Given the description of an element on the screen output the (x, y) to click on. 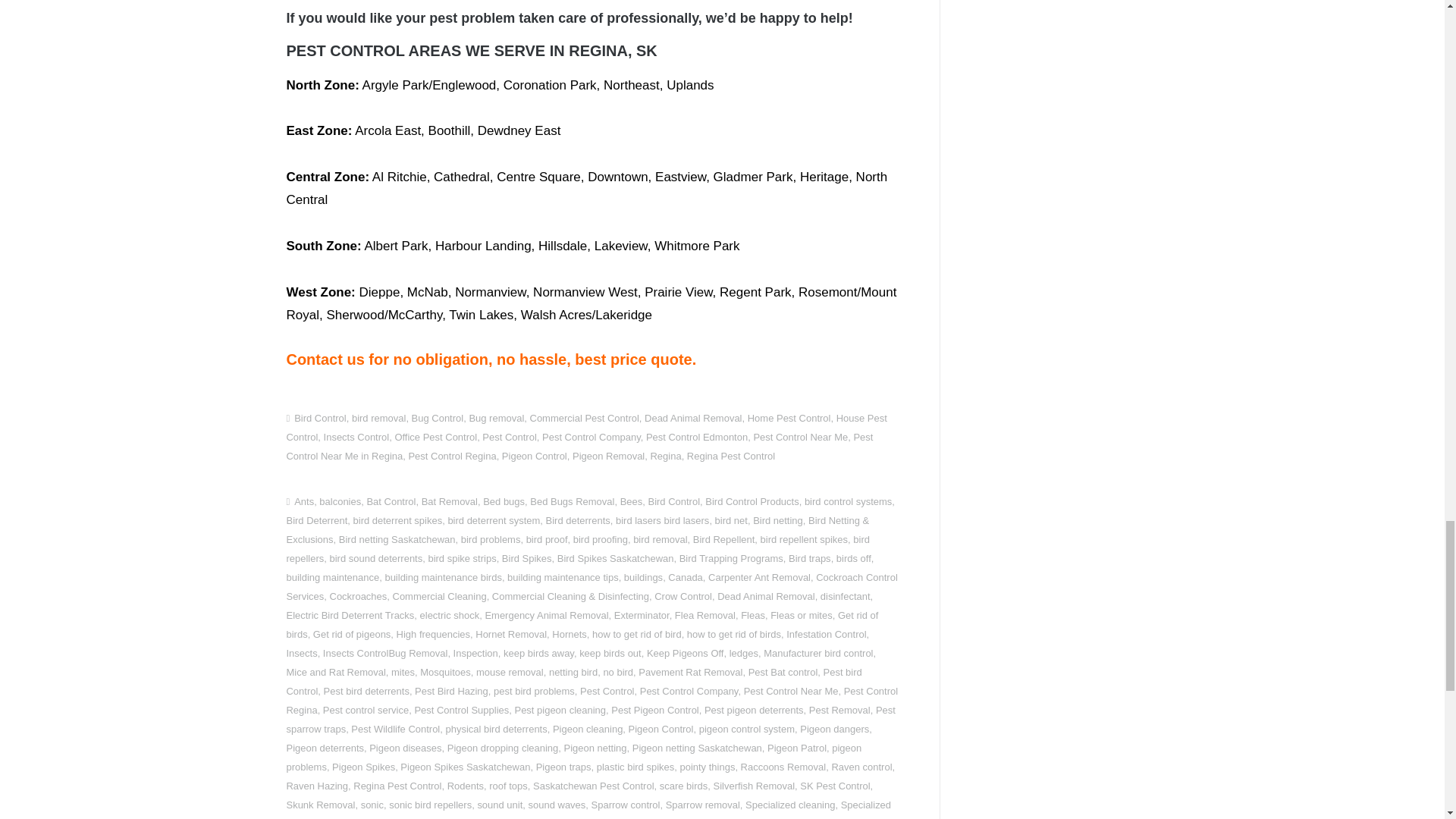
Contact us for no obligation, no hassle, best price quote. (490, 359)
Dead Animal Removal (693, 418)
Bird Control (320, 418)
Bug Control (438, 418)
Commercial Pest Control (584, 418)
Bug removal (496, 418)
bird removal (379, 418)
